Given the description of an element on the screen output the (x, y) to click on. 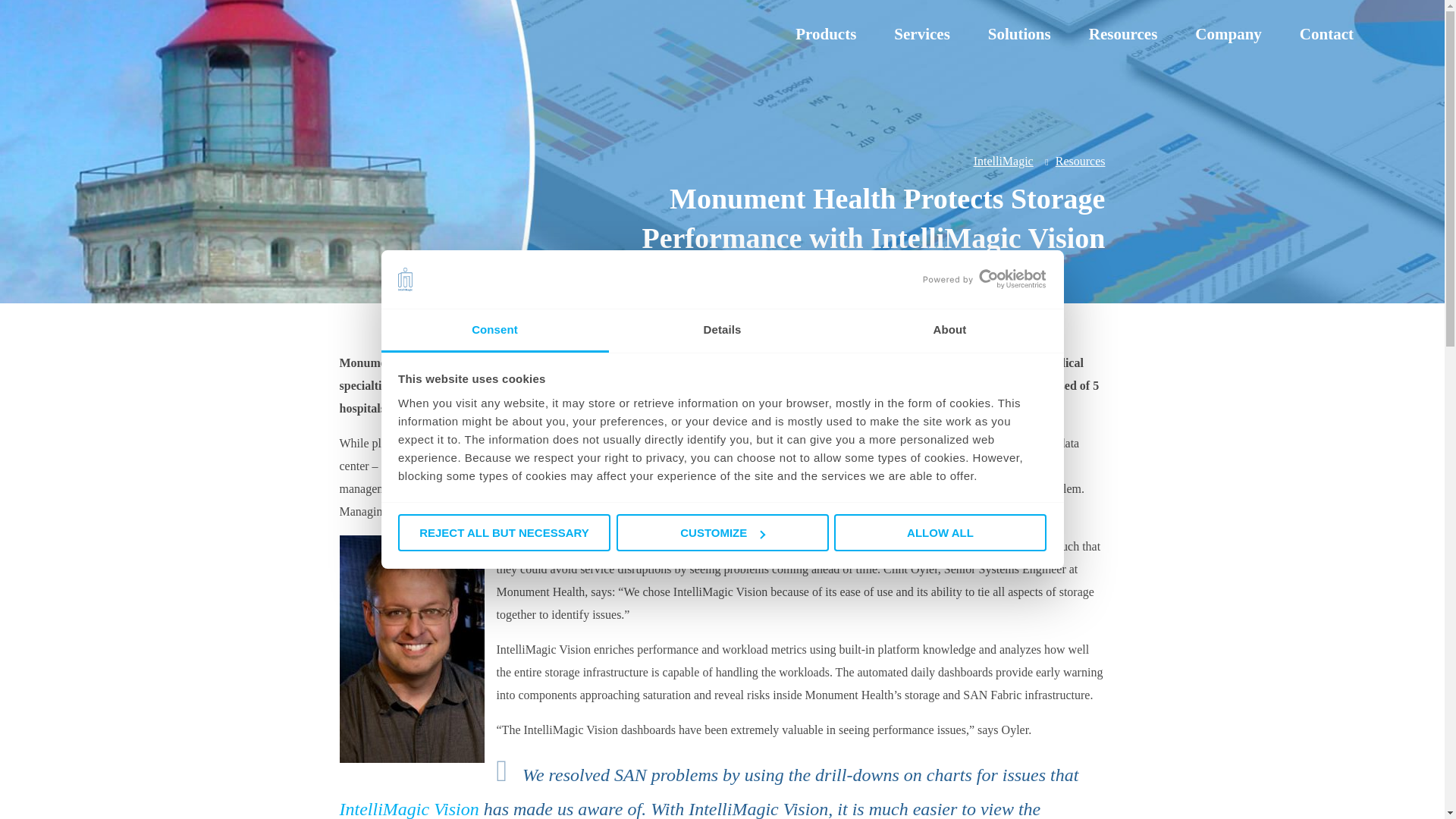
REJECT ALL BUT NECESSARY (503, 532)
About (948, 330)
Consent (494, 330)
Details (721, 330)
